Given the description of an element on the screen output the (x, y) to click on. 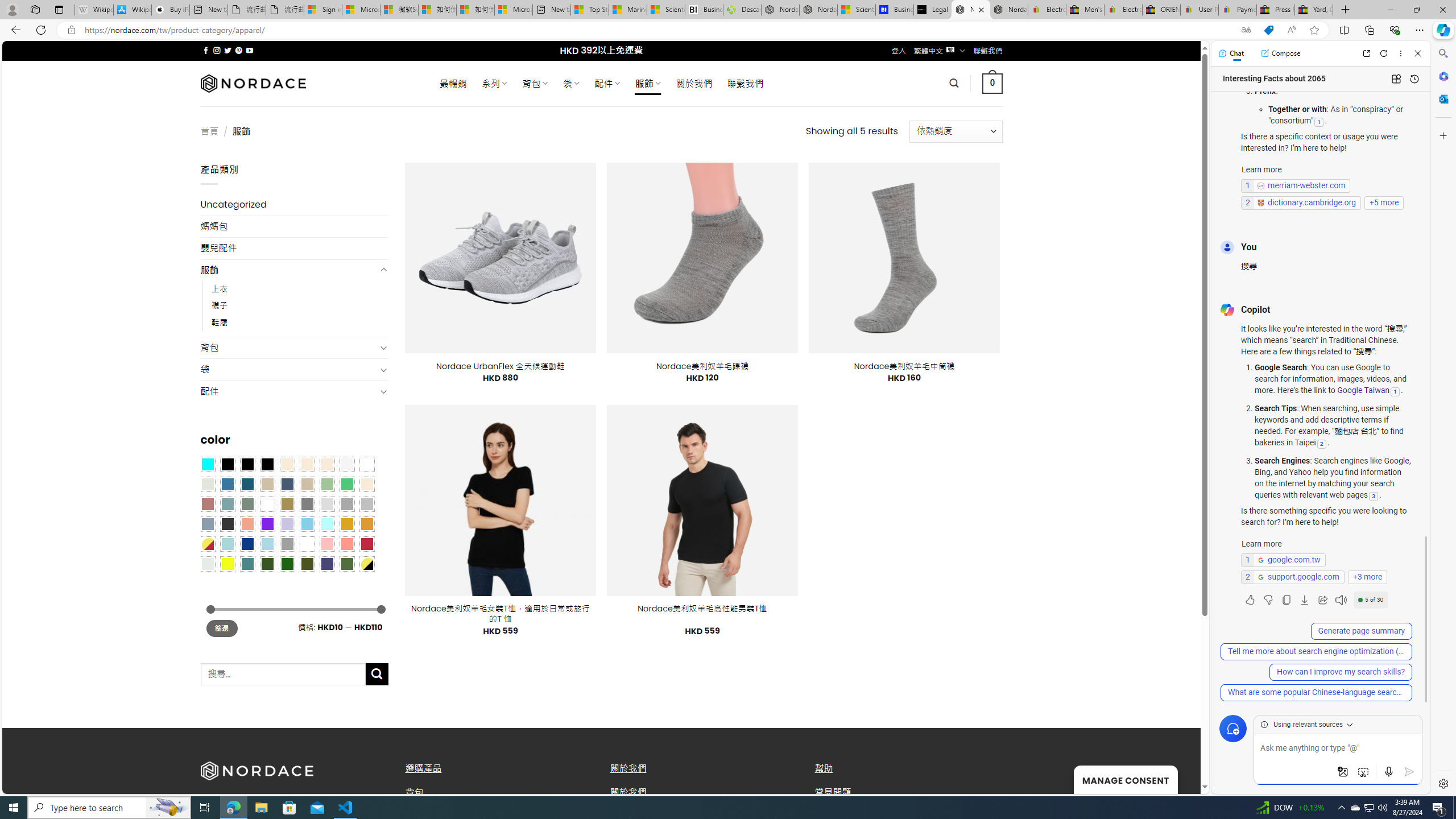
Go to top (1177, 777)
